Given the description of an element on the screen output the (x, y) to click on. 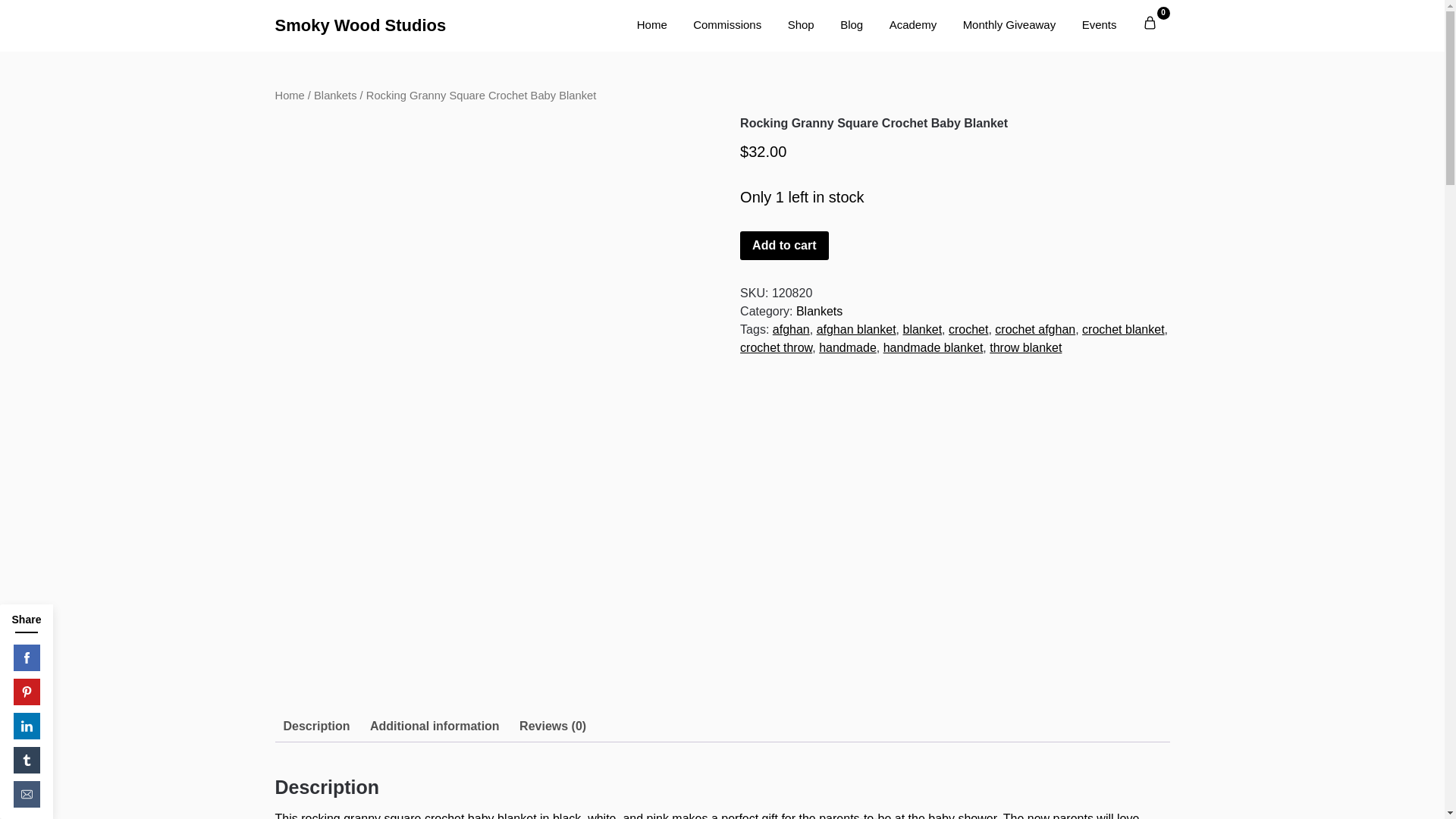
Monthly Giveaway (1009, 25)
crochet throw (775, 347)
Description (316, 726)
crochet blanket (1122, 328)
throw blanket (1025, 347)
blanket (922, 328)
Blog (851, 25)
Home (289, 95)
Blankets (335, 95)
Blankets (819, 310)
Add to cart (783, 245)
Commissions (727, 25)
0 (1149, 22)
Academy (913, 25)
Shop (800, 25)
